Given the description of an element on the screen output the (x, y) to click on. 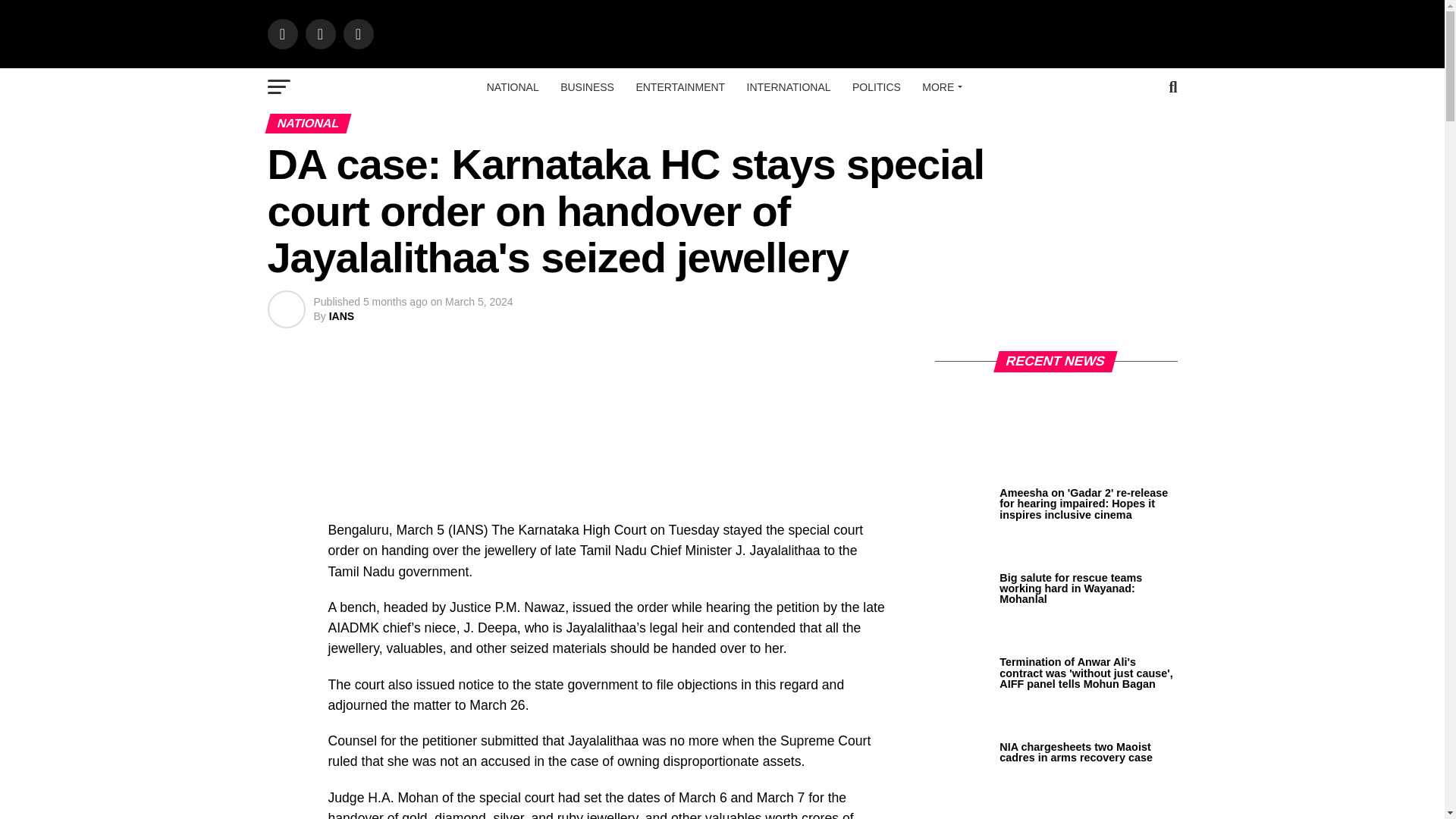
INTERNATIONAL (789, 86)
NATIONAL (512, 86)
BUSINESS (587, 86)
ENTERTAINMENT (679, 86)
